Given the description of an element on the screen output the (x, y) to click on. 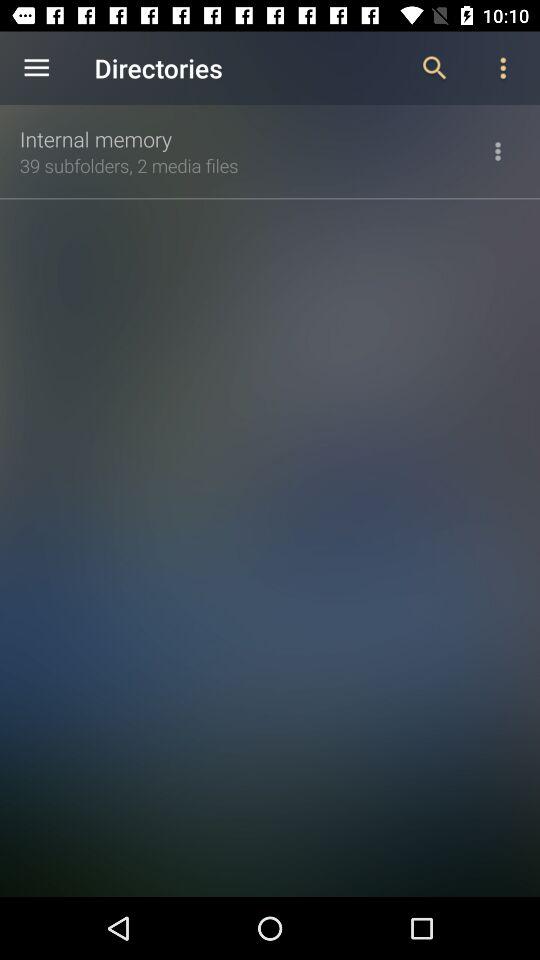
tap the icon to the right of the directories (434, 67)
